Given the description of an element on the screen output the (x, y) to click on. 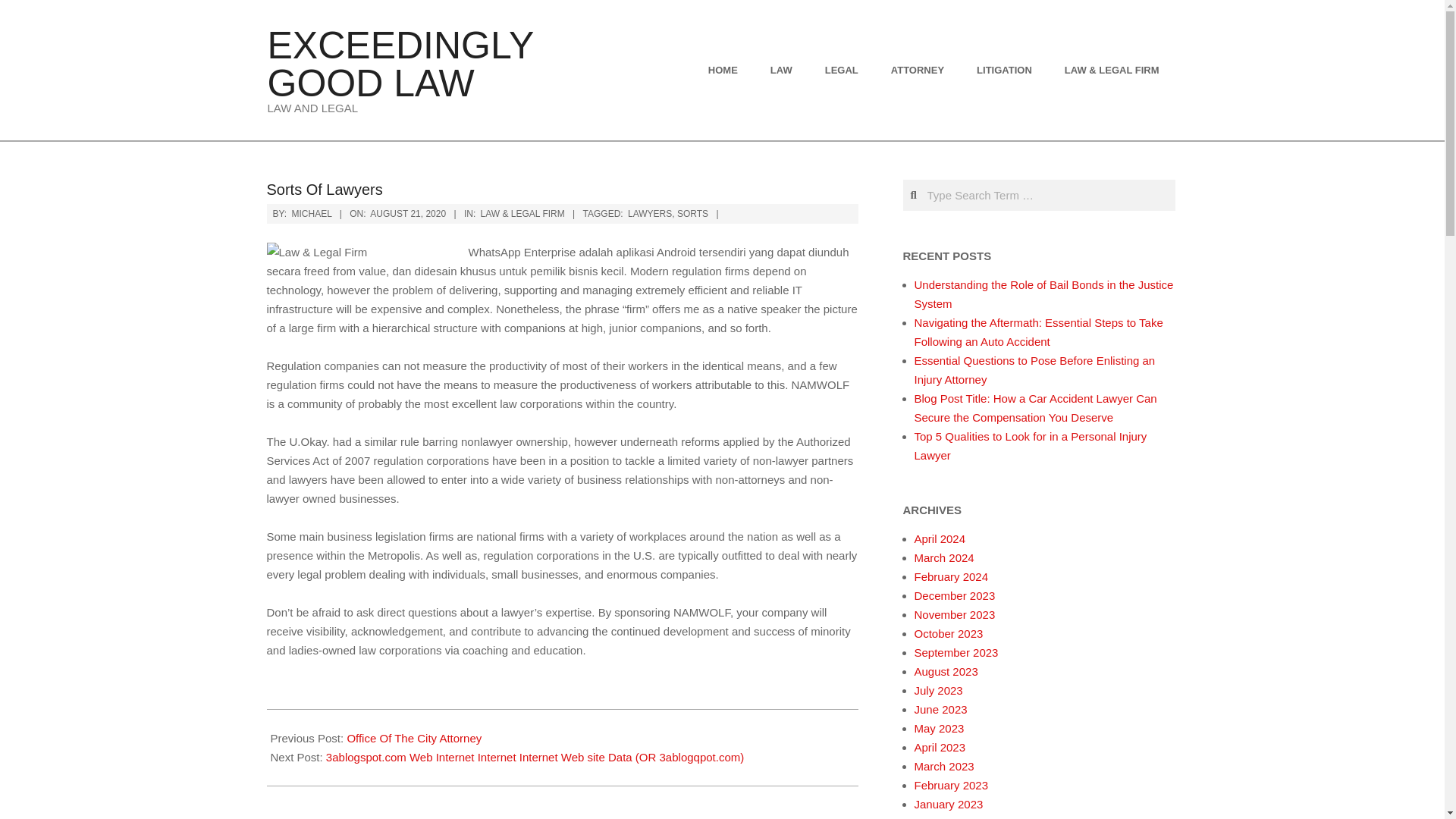
Understanding the Role of Bail Bonds in the Justice System (1043, 294)
LAW (782, 70)
March 2024 (944, 557)
Office Of The City Attorney (413, 738)
December 2022 (954, 817)
December 2023 (954, 594)
October 2023 (949, 633)
April 2024 (940, 538)
January 2023 (949, 803)
February 2024 (951, 576)
LAWYERS (649, 213)
Top 5 Qualities to Look for in a Personal Injury Lawyer (1030, 445)
June 2023 (941, 708)
SORTS (692, 213)
